Given the description of an element on the screen output the (x, y) to click on. 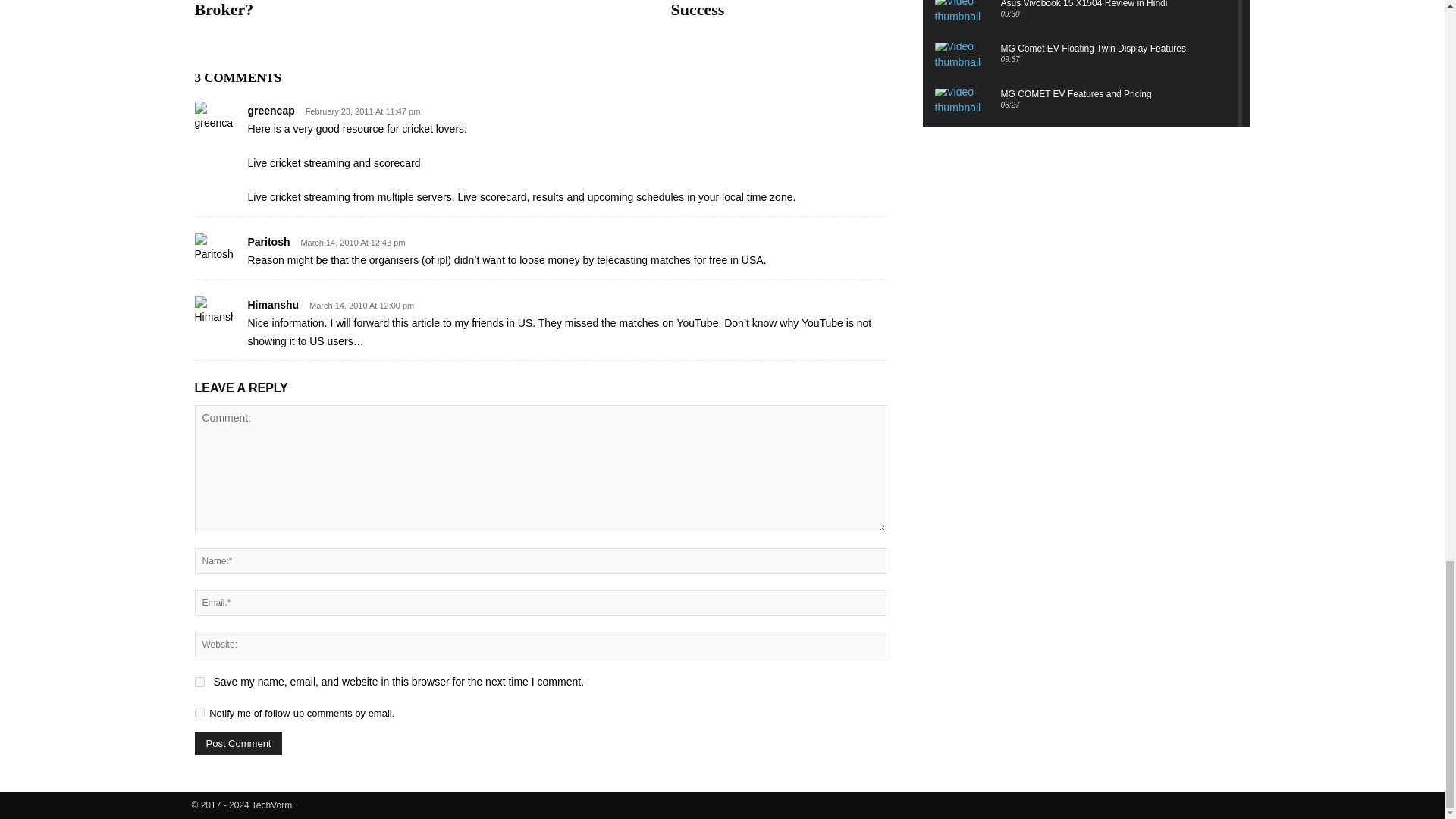
subscribe (198, 712)
Post Comment (237, 743)
yes (198, 682)
